Given the description of an element on the screen output the (x, y) to click on. 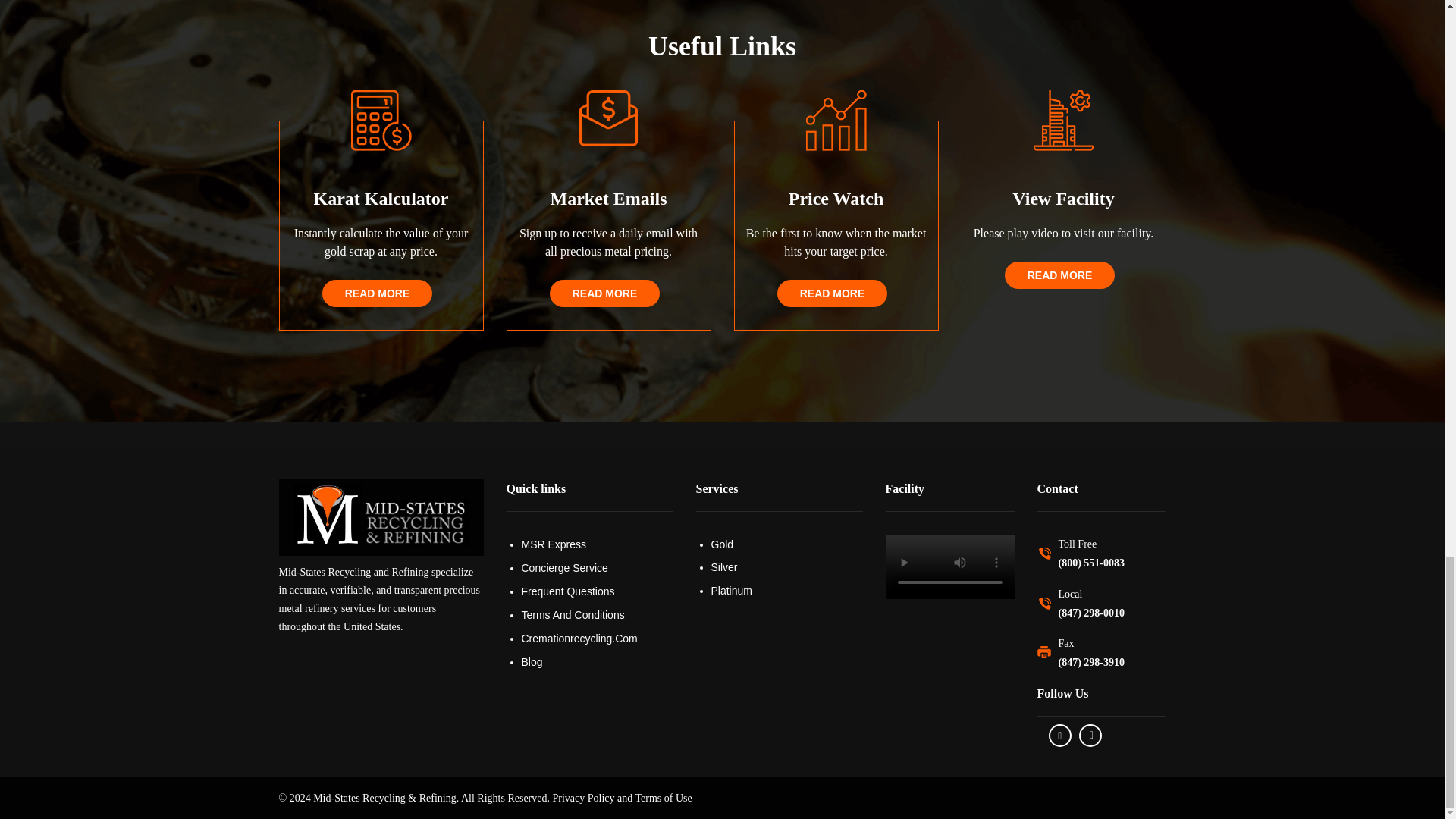
Concierge Service (596, 567)
Frequently Asked Questions (596, 591)
CremationRecycling.com (596, 638)
